Given the description of an element on the screen output the (x, y) to click on. 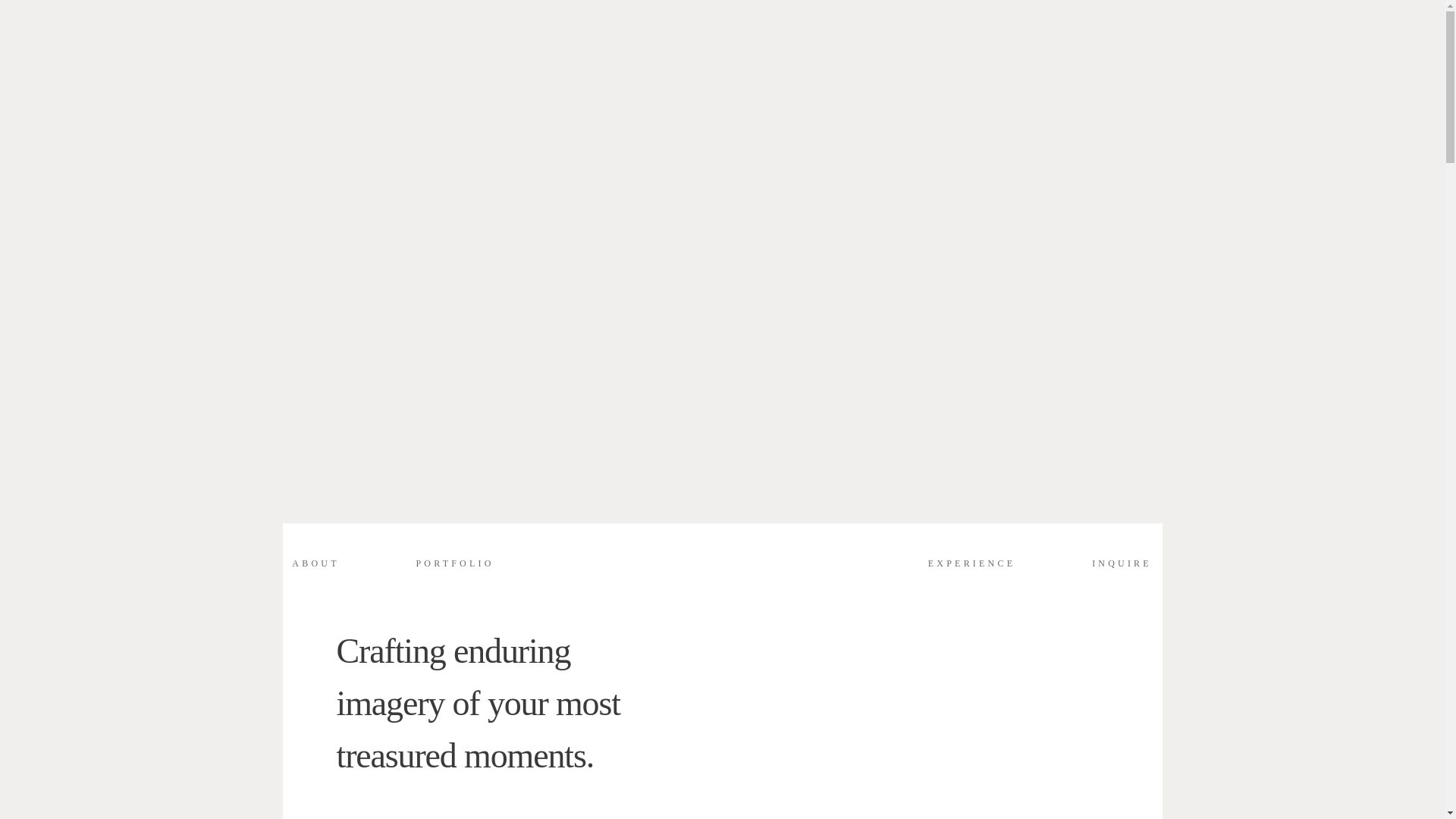
PORTFOLIO (454, 564)
ABOUT (315, 564)
EXPERIENCE (970, 564)
INQUIRE (1121, 564)
